Given the description of an element on the screen output the (x, y) to click on. 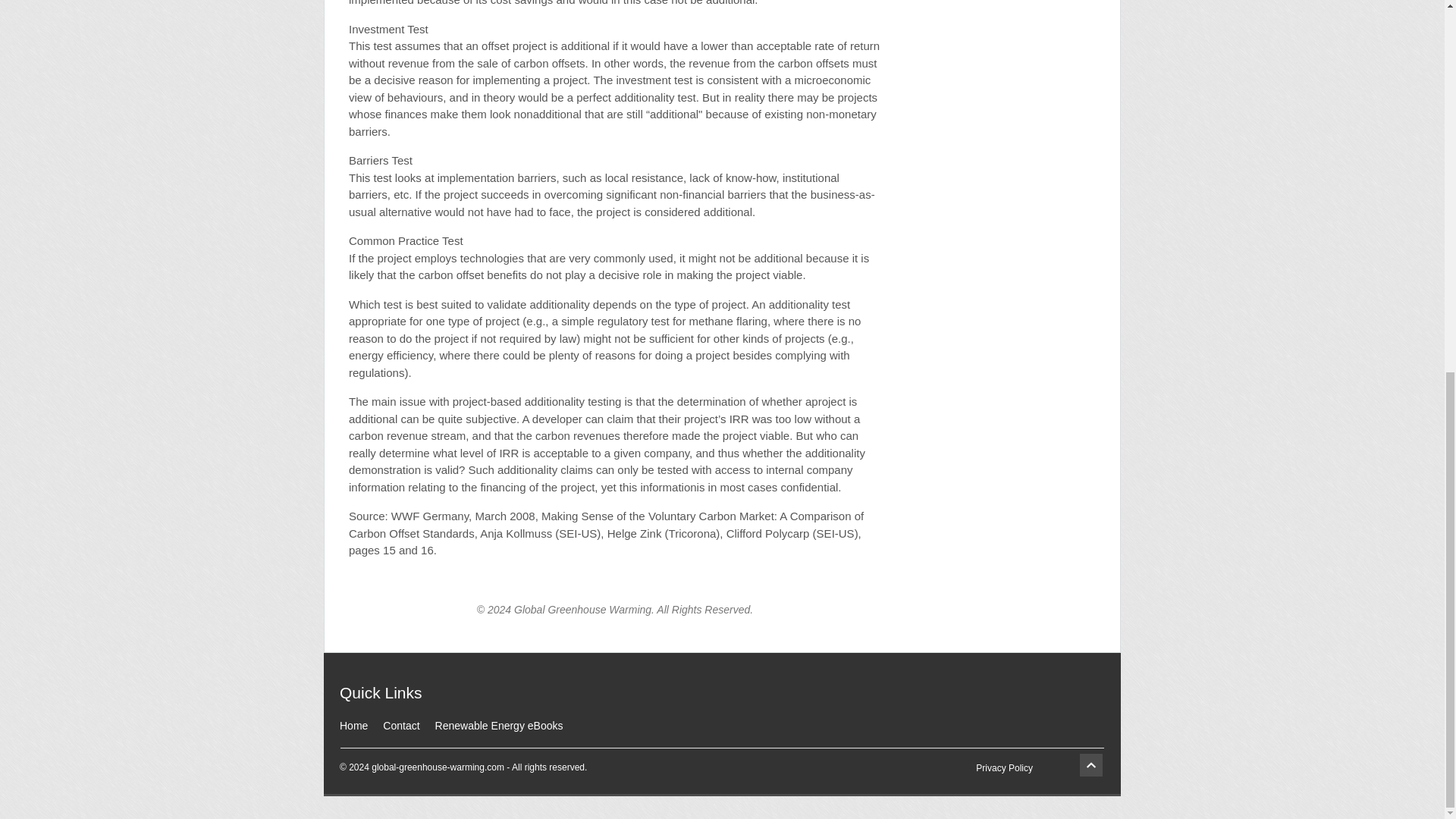
Privacy Policy (1003, 767)
Home (353, 725)
Contact (400, 725)
Renewable Energy eBooks (499, 725)
